Given the description of an element on the screen output the (x, y) to click on. 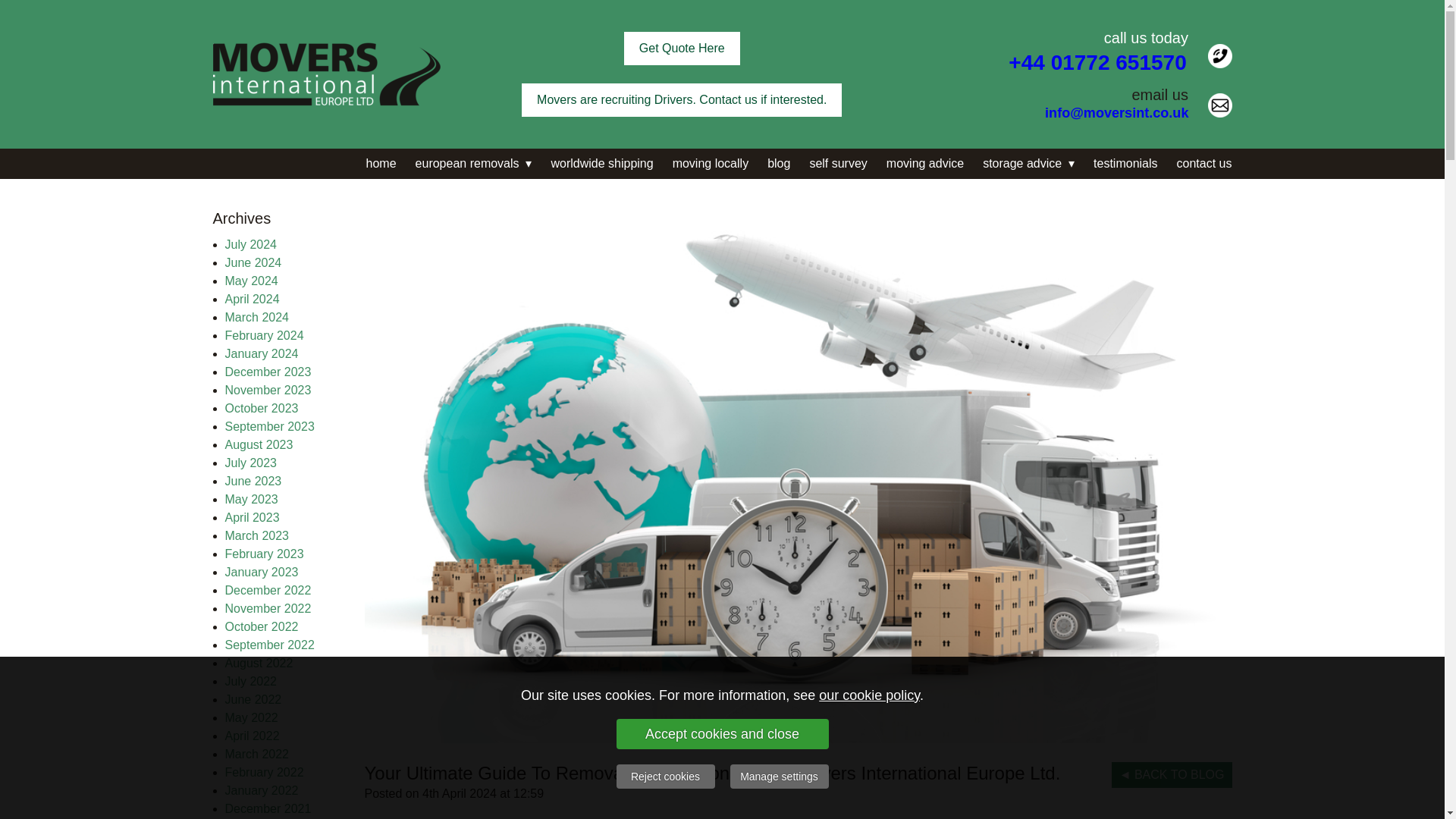
December 2023 (267, 371)
home (371, 163)
european removals (464, 163)
blog (769, 163)
Get Quote Here (681, 48)
April 2024 (251, 298)
moving locally (700, 163)
June 2024 (252, 262)
November 2023 (267, 390)
BACK TO BLOG (1171, 774)
